Given the description of an element on the screen output the (x, y) to click on. 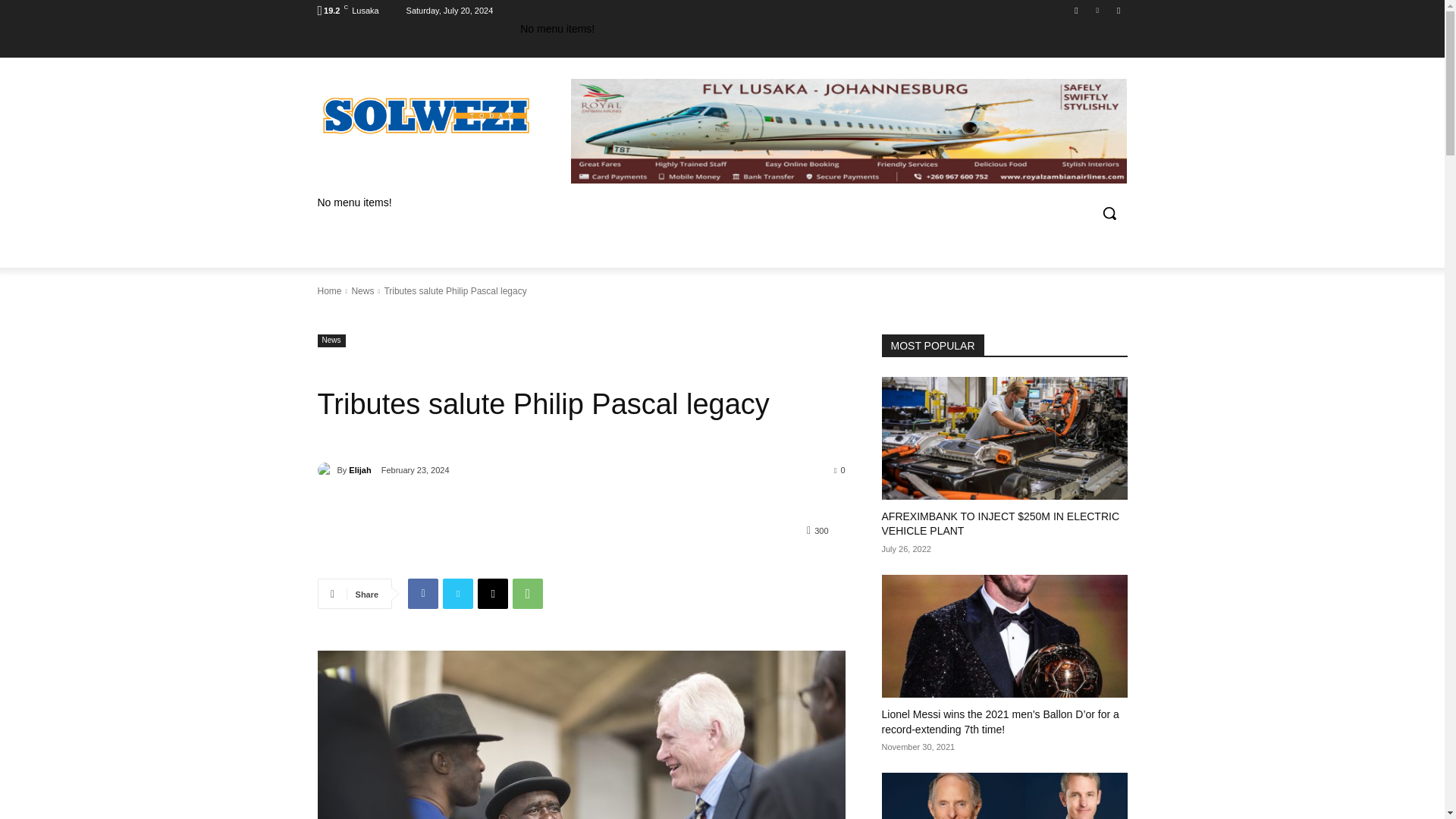
News (331, 340)
Twitter (457, 593)
News (362, 290)
Twitter (1097, 9)
Facebook (422, 593)
Home (328, 290)
Email (492, 593)
Youtube (1117, 9)
Instagram (1075, 9)
Elijah (360, 469)
View all posts in News (362, 290)
0 (839, 469)
Elijah (326, 469)
